Given the description of an element on the screen output the (x, y) to click on. 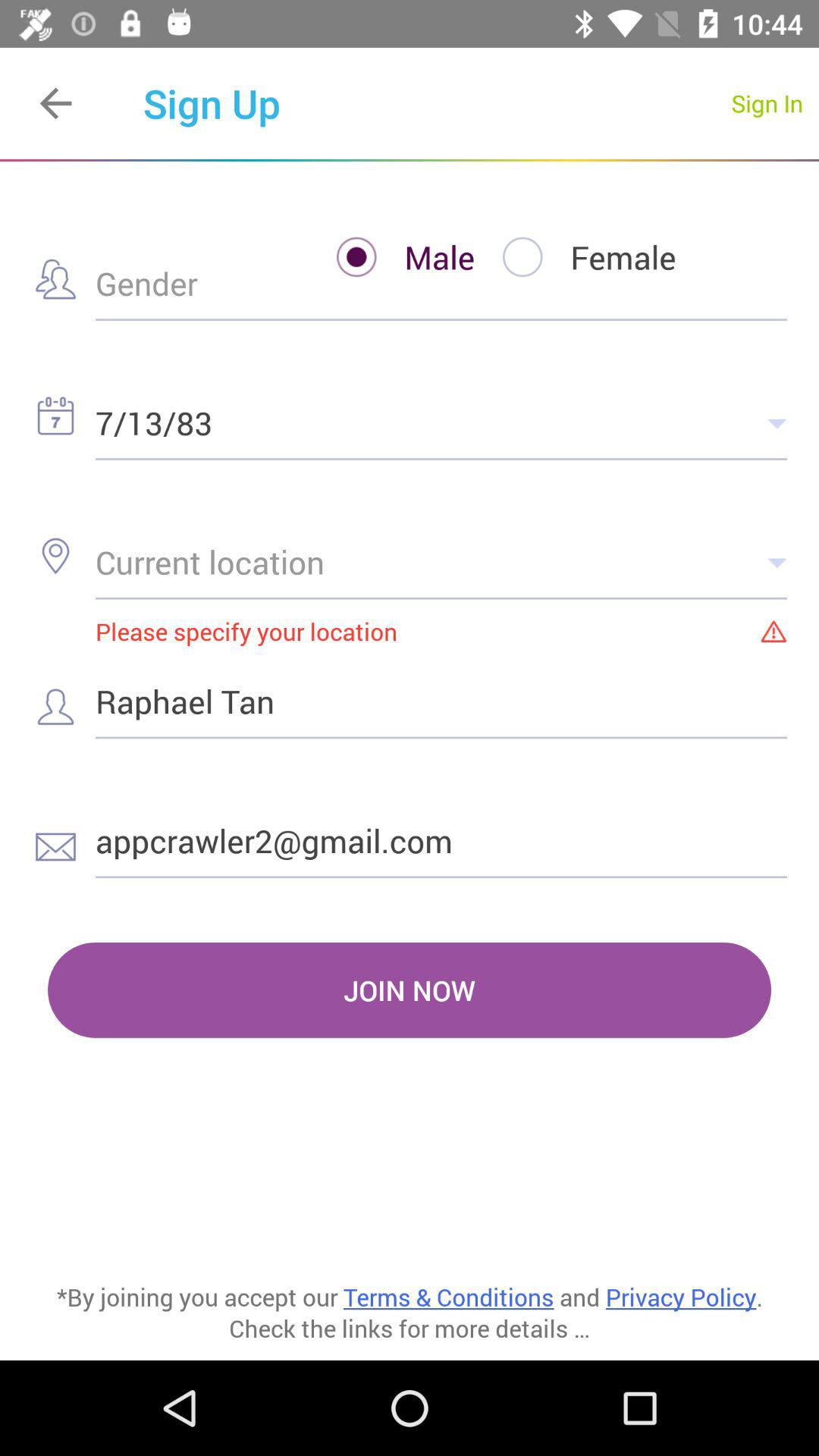
turn on the item above the 7/13/83 item (391, 256)
